Given the description of an element on the screen output the (x, y) to click on. 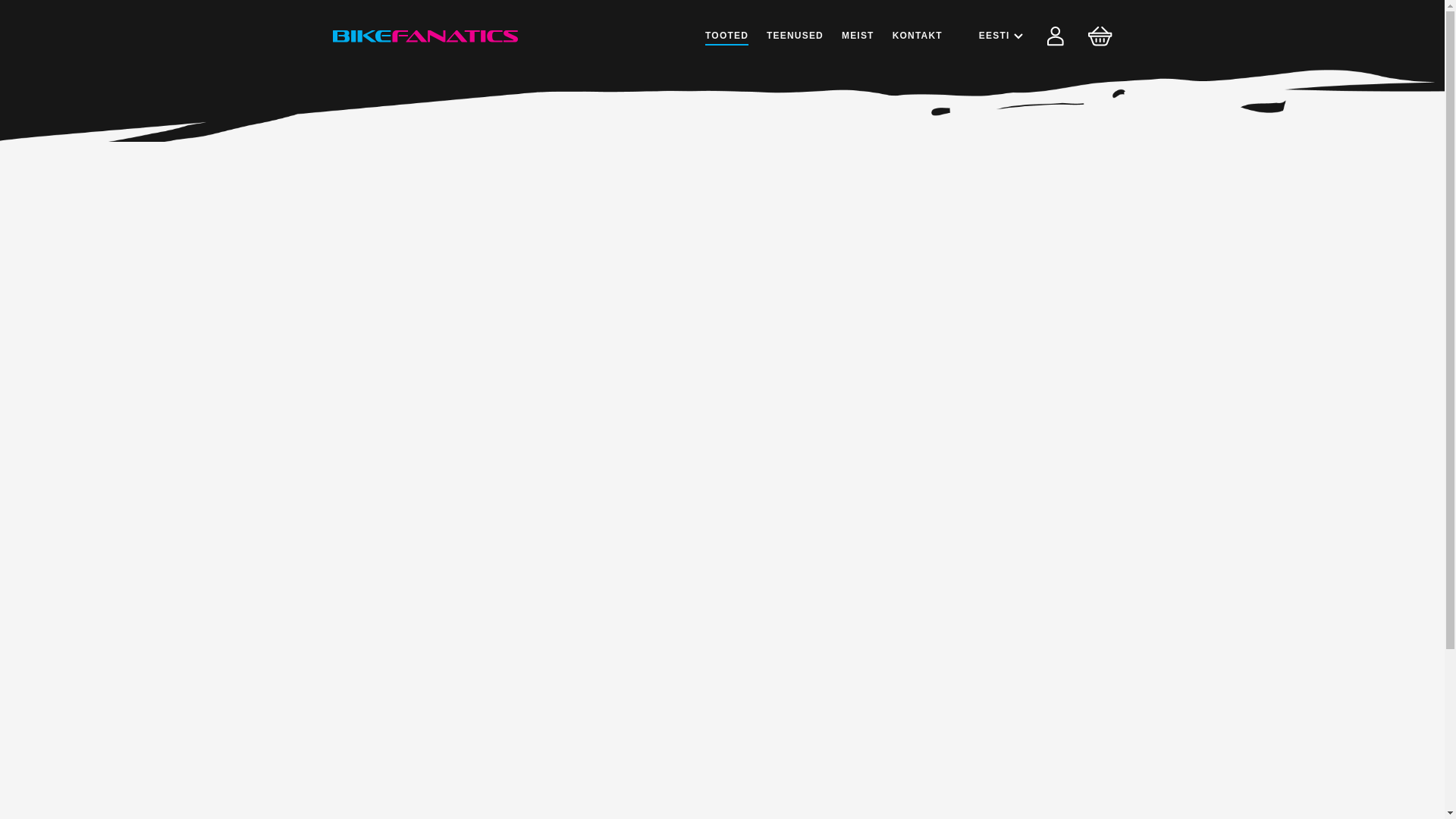
TOOTED (726, 35)
KONTAKT (917, 35)
MEIST (858, 35)
EESTI (1000, 35)
TEENUSED (795, 35)
